Given the description of an element on the screen output the (x, y) to click on. 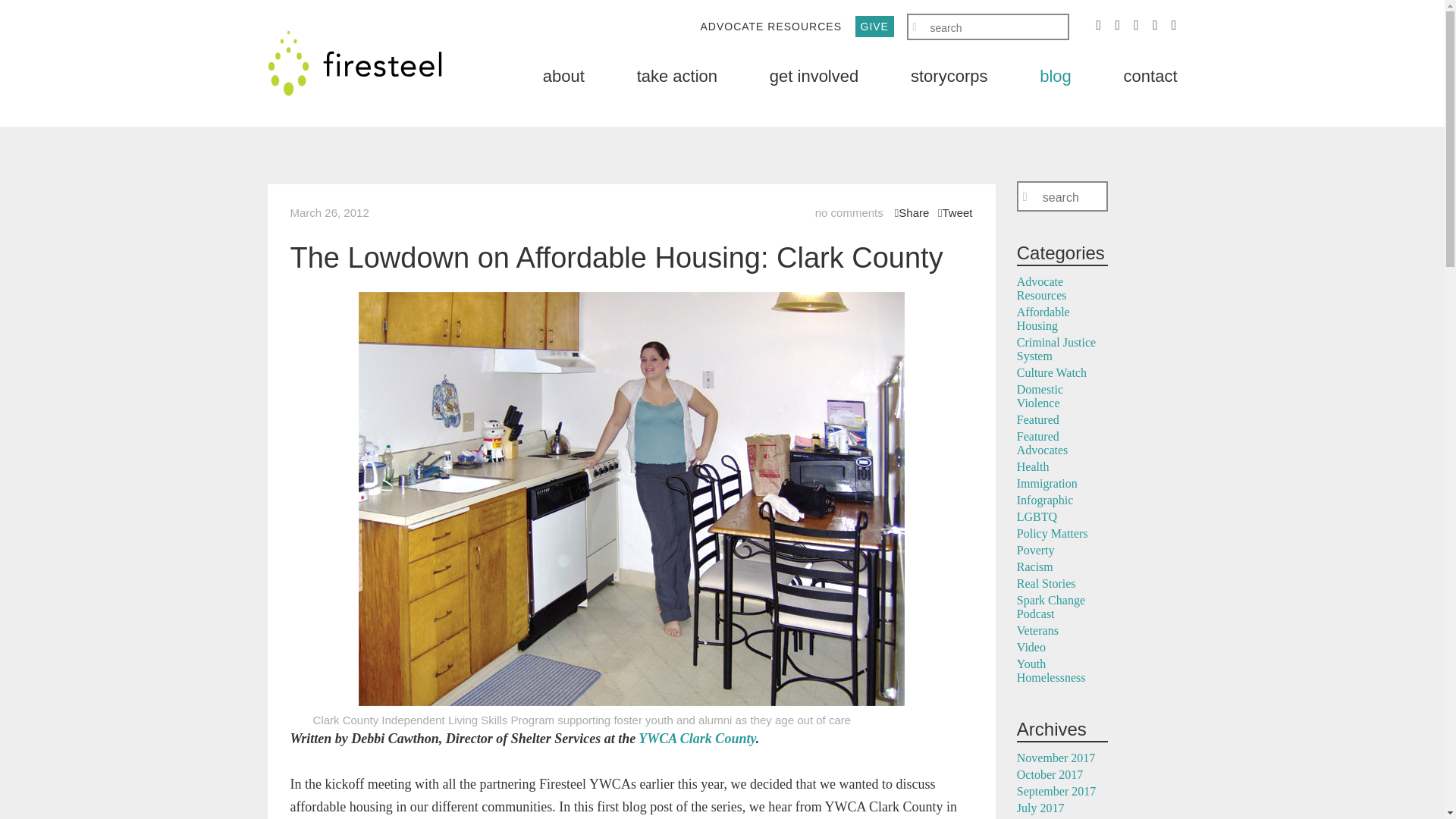
Health (1032, 466)
YWCA Clark County (697, 738)
Firesteel (353, 63)
Affordable Housing (1043, 318)
Culture Watch (1051, 372)
no comments (849, 212)
Share (912, 212)
LGBTQ (1036, 516)
blog (1055, 75)
Domestic Violence (1039, 396)
